Given the description of an element on the screen output the (x, y) to click on. 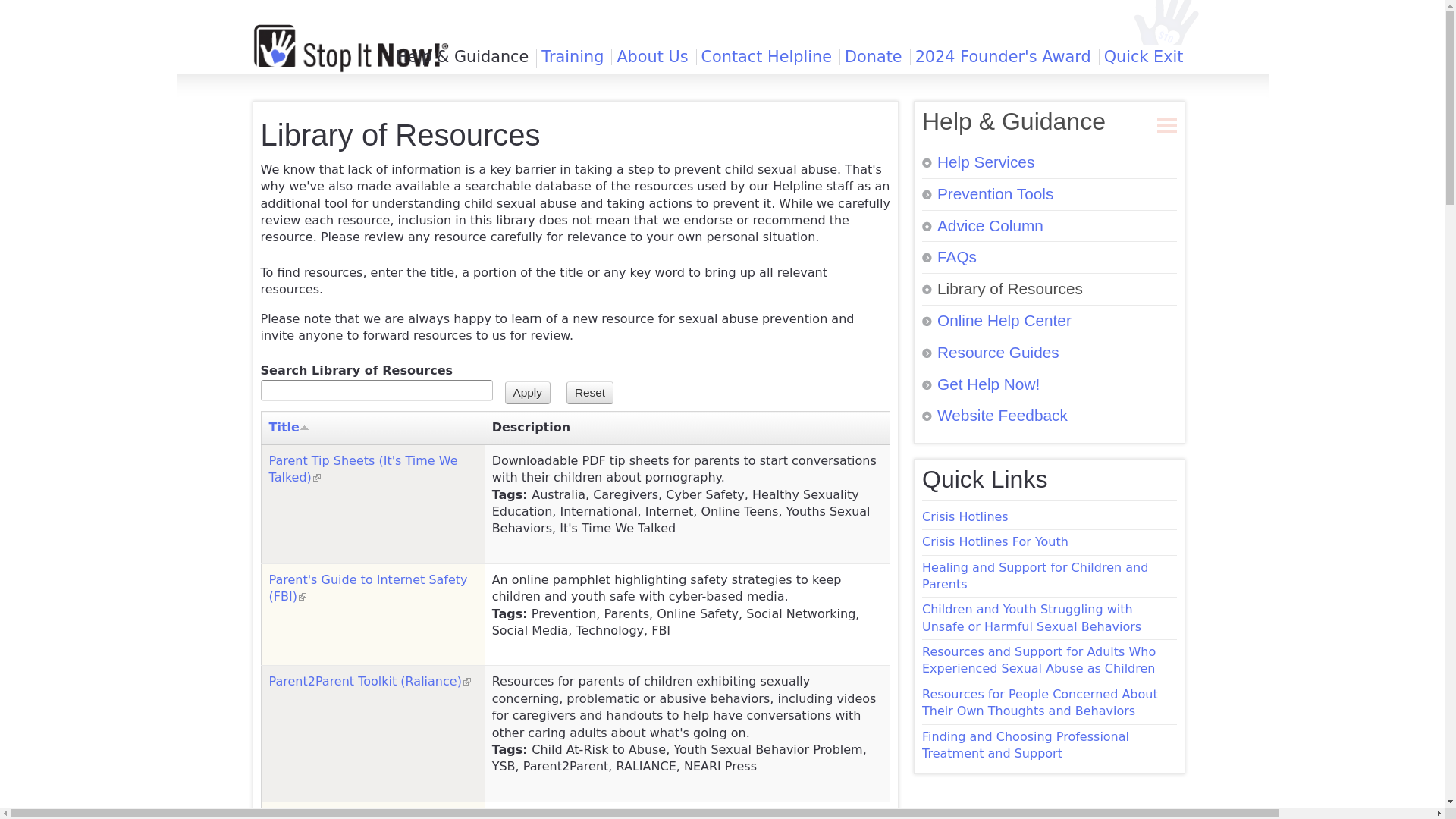
Reset (589, 392)
Apply (527, 392)
Contact Helpline (766, 57)
